Given the description of an element on the screen output the (x, y) to click on. 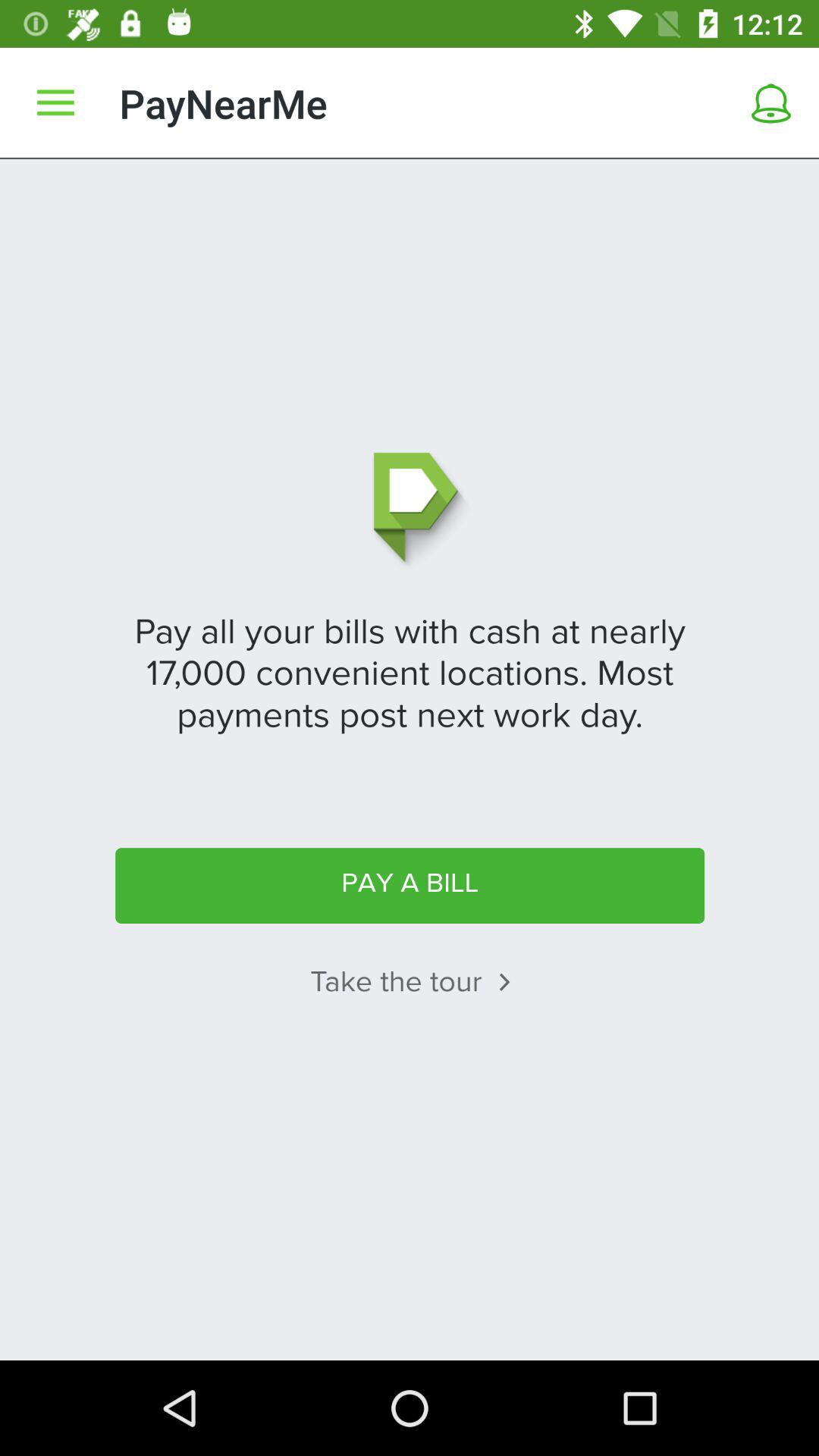
toggle notifications (771, 103)
